Given the description of an element on the screen output the (x, y) to click on. 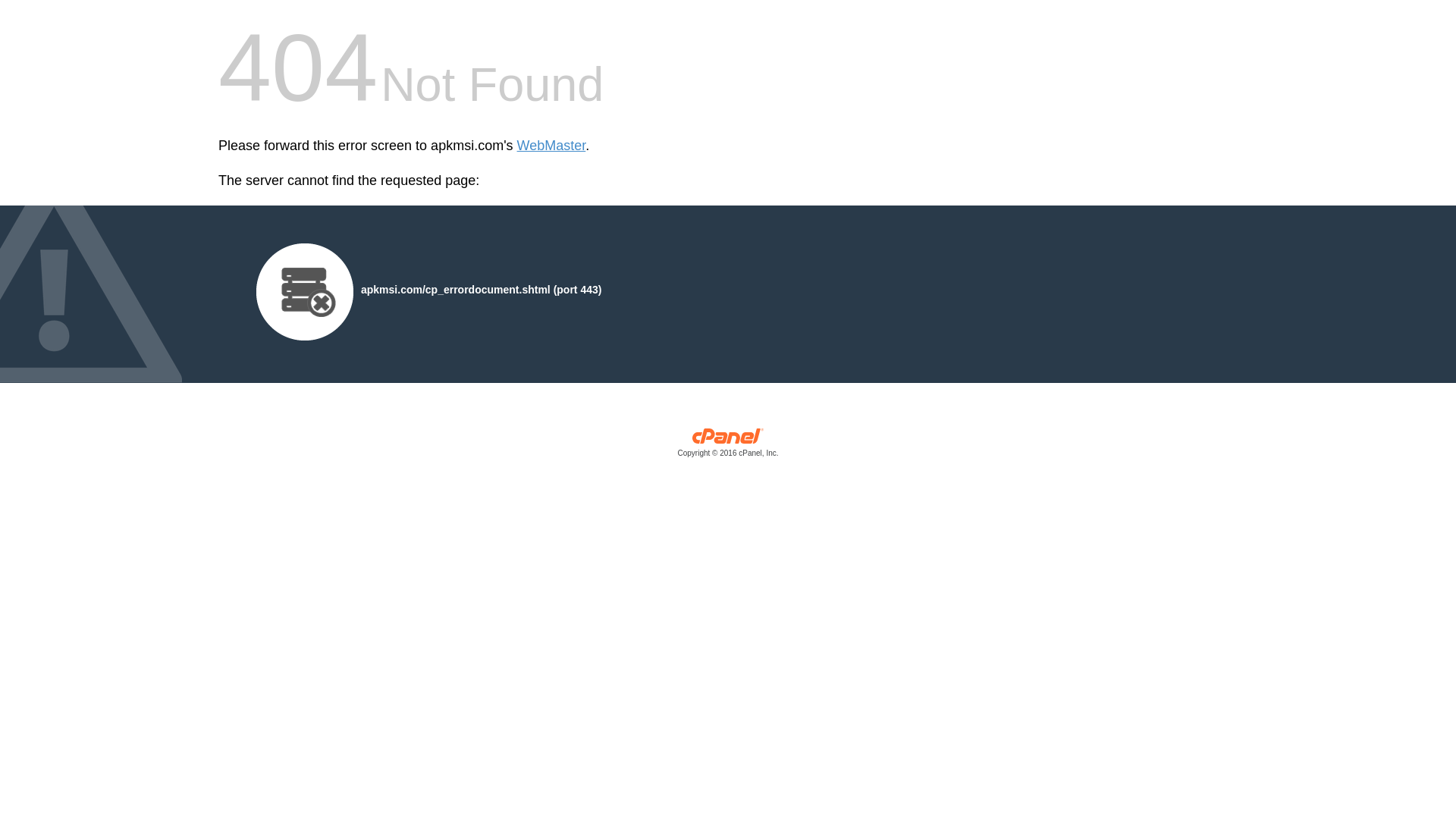
WebMaster (551, 145)
cPanel, Inc. (727, 446)
